Given the description of an element on the screen output the (x, y) to click on. 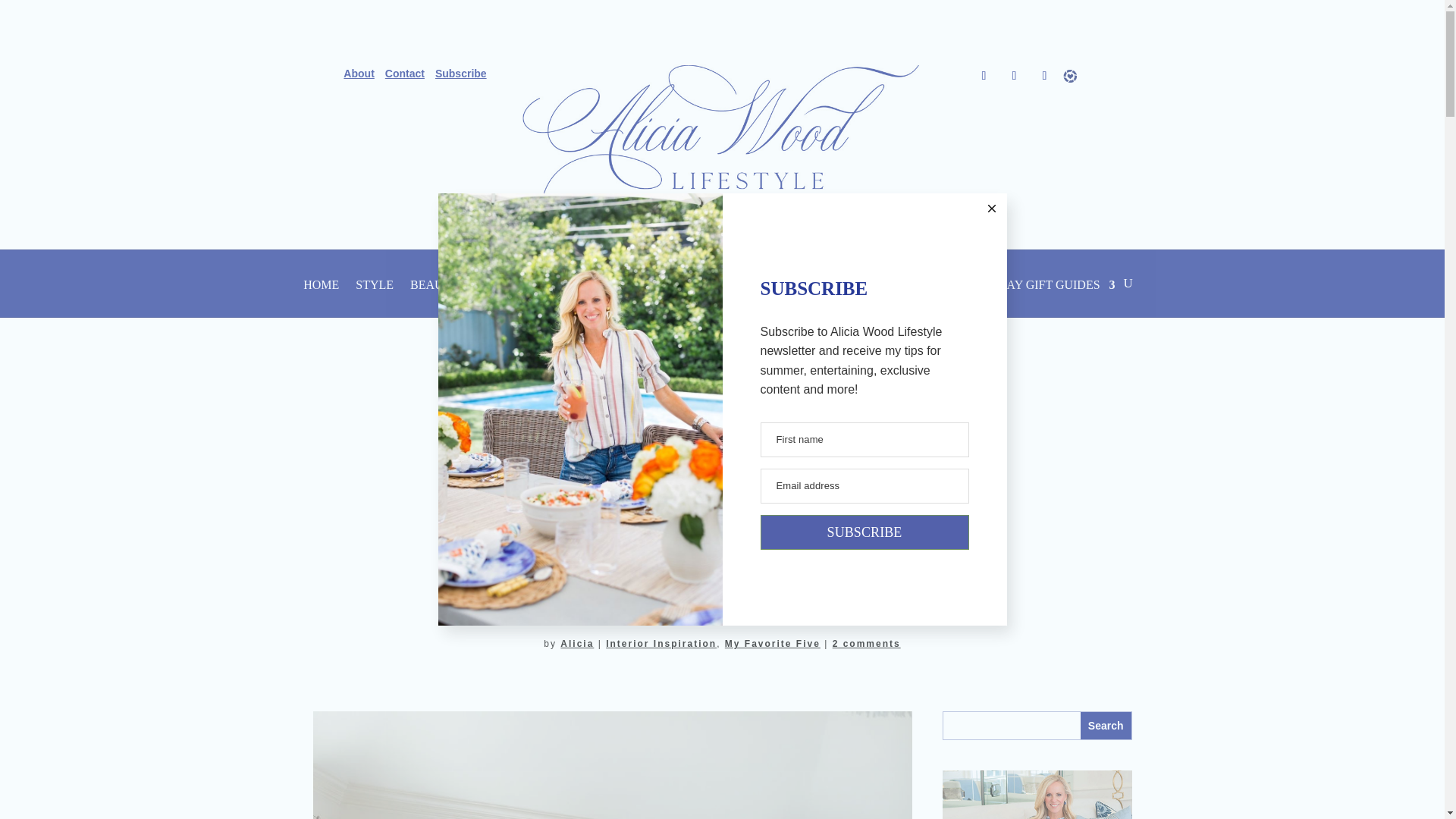
About (363, 73)
Follow on Instagram (1044, 75)
Search (1105, 725)
Follow on Facebook (983, 75)
SHOP MY LTK (913, 295)
Follow on Pinterest (1014, 75)
BEAUTY (435, 295)
Posts by Alicia (577, 643)
Search (1105, 725)
AWL-about-page-image-400-033022 (1036, 794)
HOLIDAY GIFT GUIDES (1042, 295)
awl-header-no-jars-large (721, 137)
TRAVEL (826, 295)
Follow on  (1074, 75)
Subscribe (466, 73)
